Given the description of an element on the screen output the (x, y) to click on. 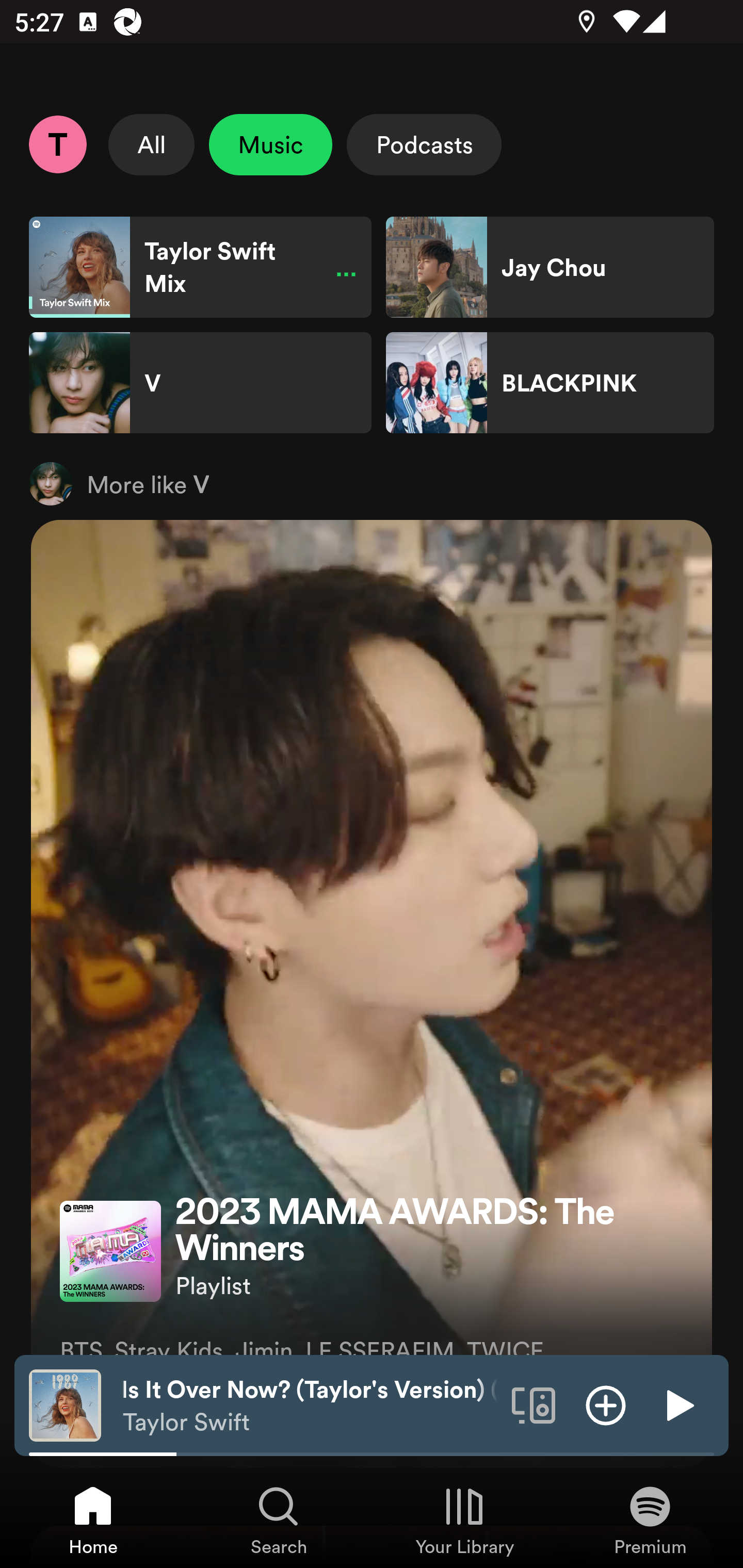
Profile (57, 144)
All Select All (151, 144)
Music Unselect Music (270, 144)
Podcasts Select Podcasts (423, 144)
Taylor Swift Mix Shortcut Taylor Swift Mix Paused (199, 267)
Jay Chou Shortcut Jay Chou (549, 267)
V Shortcut V (199, 382)
BLACKPINK Shortcut BLACKPINK (549, 382)
More like V (371, 483)
The cover art of the currently playing track (64, 1404)
Connect to a device. Opens the devices menu (533, 1404)
Add item (605, 1404)
Play (677, 1404)
Home, Tab 1 of 4 Home Home (92, 1519)
Search, Tab 2 of 4 Search Search (278, 1519)
Your Library, Tab 3 of 4 Your Library Your Library (464, 1519)
Premium, Tab 4 of 4 Premium Premium (650, 1519)
